Given the description of an element on the screen output the (x, y) to click on. 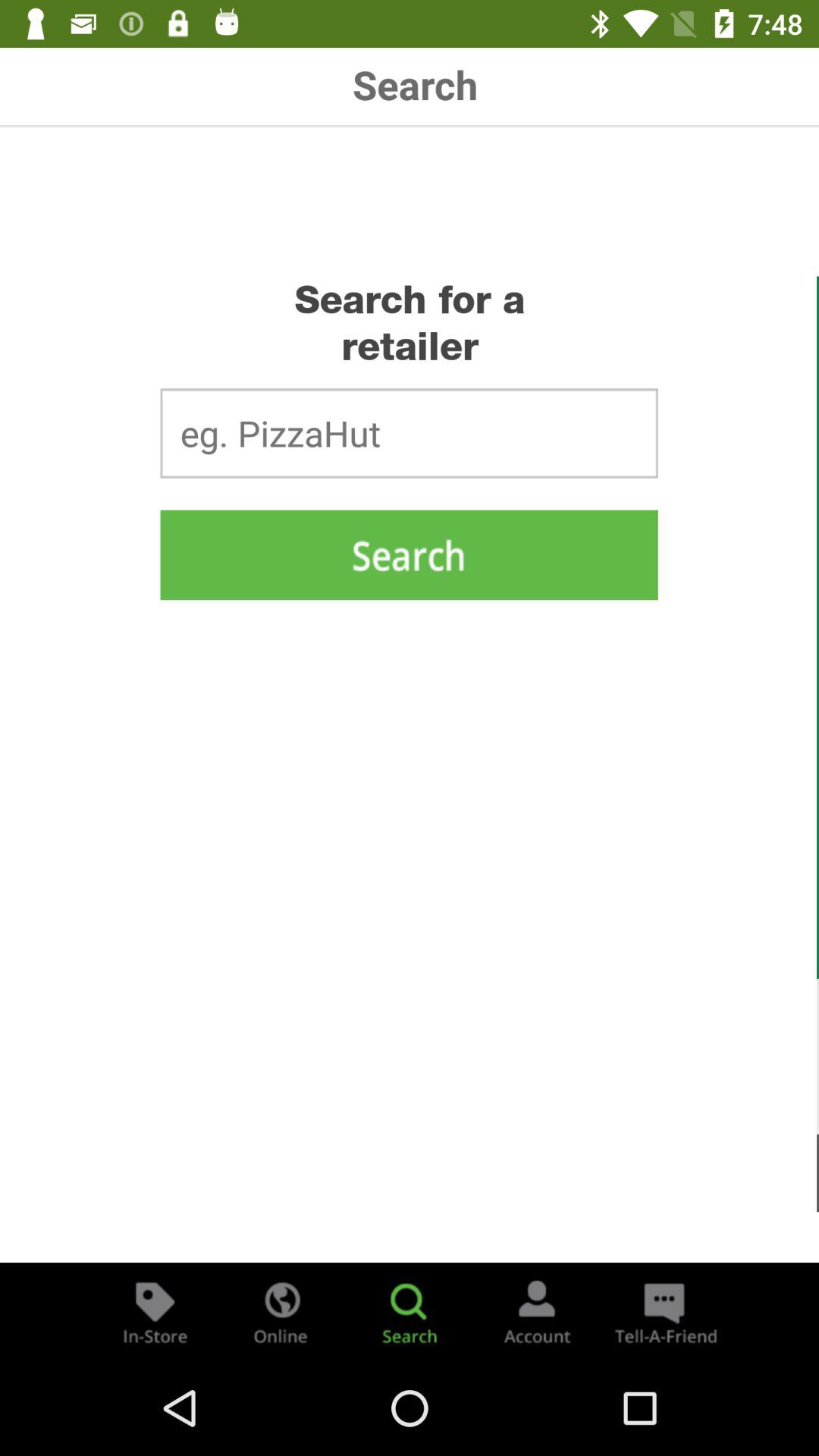
go to the store (154, 1311)
